Given the description of an element on the screen output the (x, y) to click on. 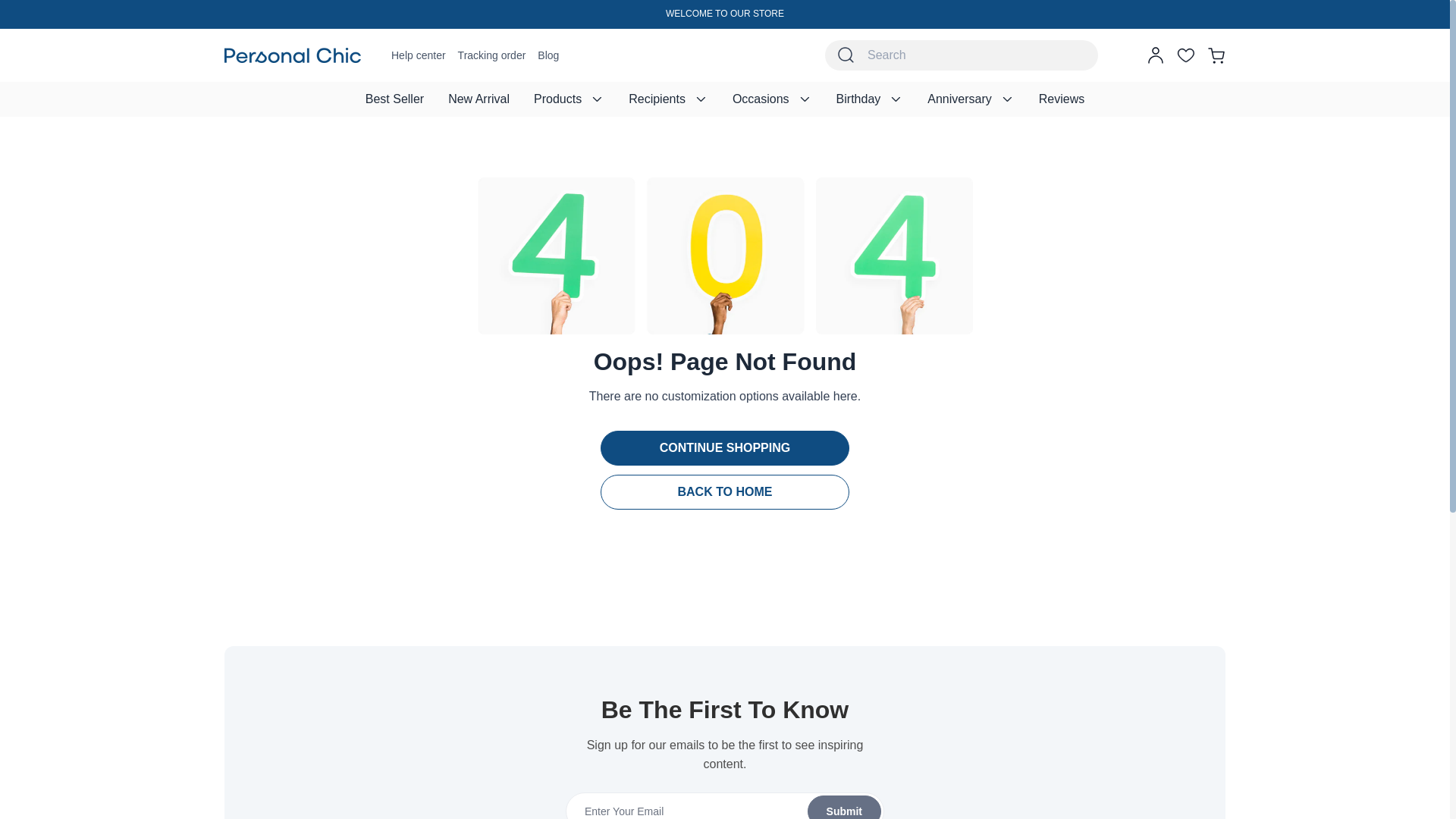
Blog (548, 55)
New Arrival (478, 99)
Personal Chic (292, 55)
Best Seller (394, 99)
Recipients (667, 99)
wishlist (1185, 54)
Bestsellers (394, 99)
Products (568, 99)
account (1155, 54)
Blog (548, 55)
Submit (723, 805)
New Arrivals (478, 99)
Products (568, 99)
cart (1216, 54)
